Given the description of an element on the screen output the (x, y) to click on. 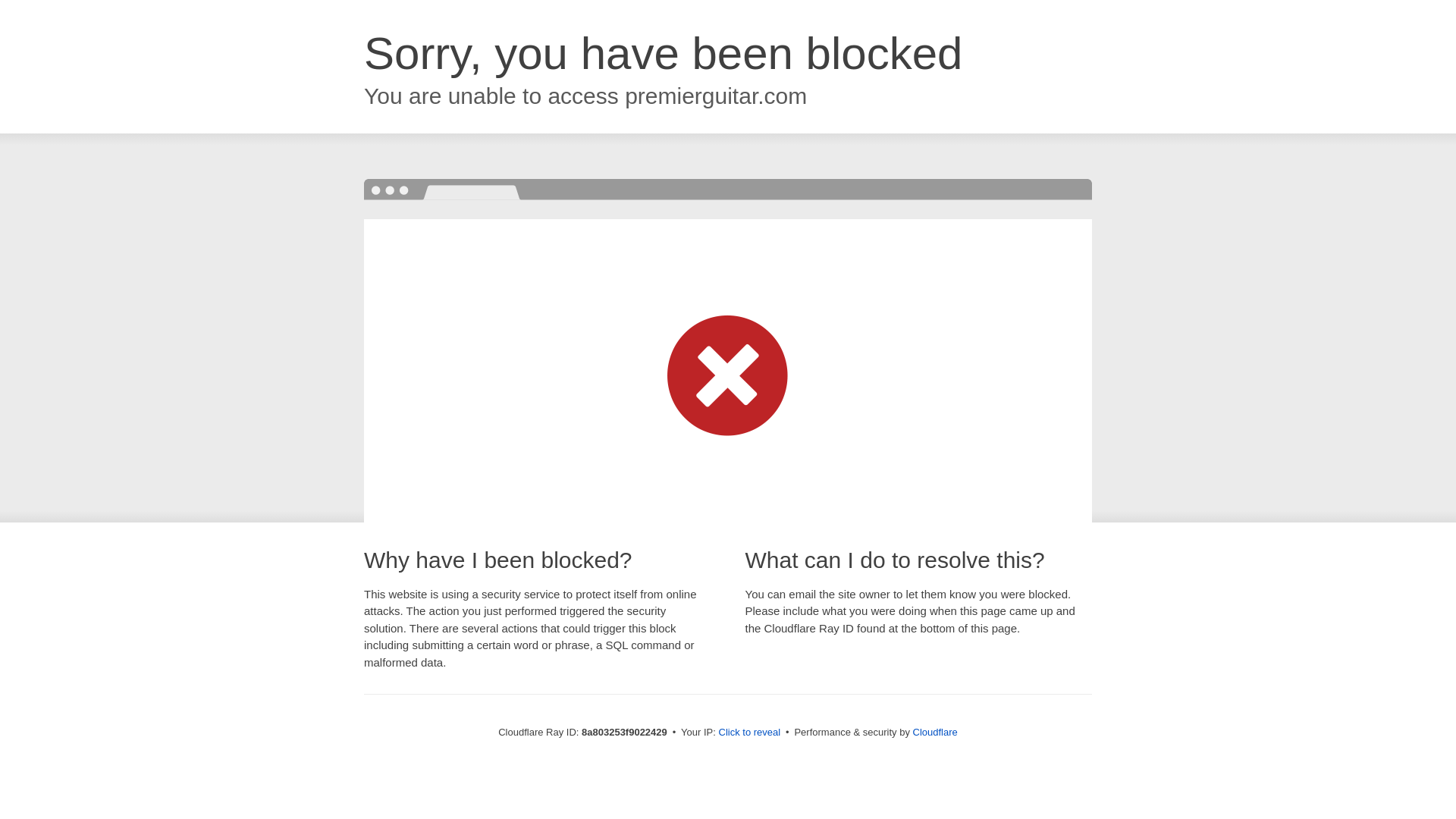
Cloudflare (935, 731)
Click to reveal (749, 732)
